Given the description of an element on the screen output the (x, y) to click on. 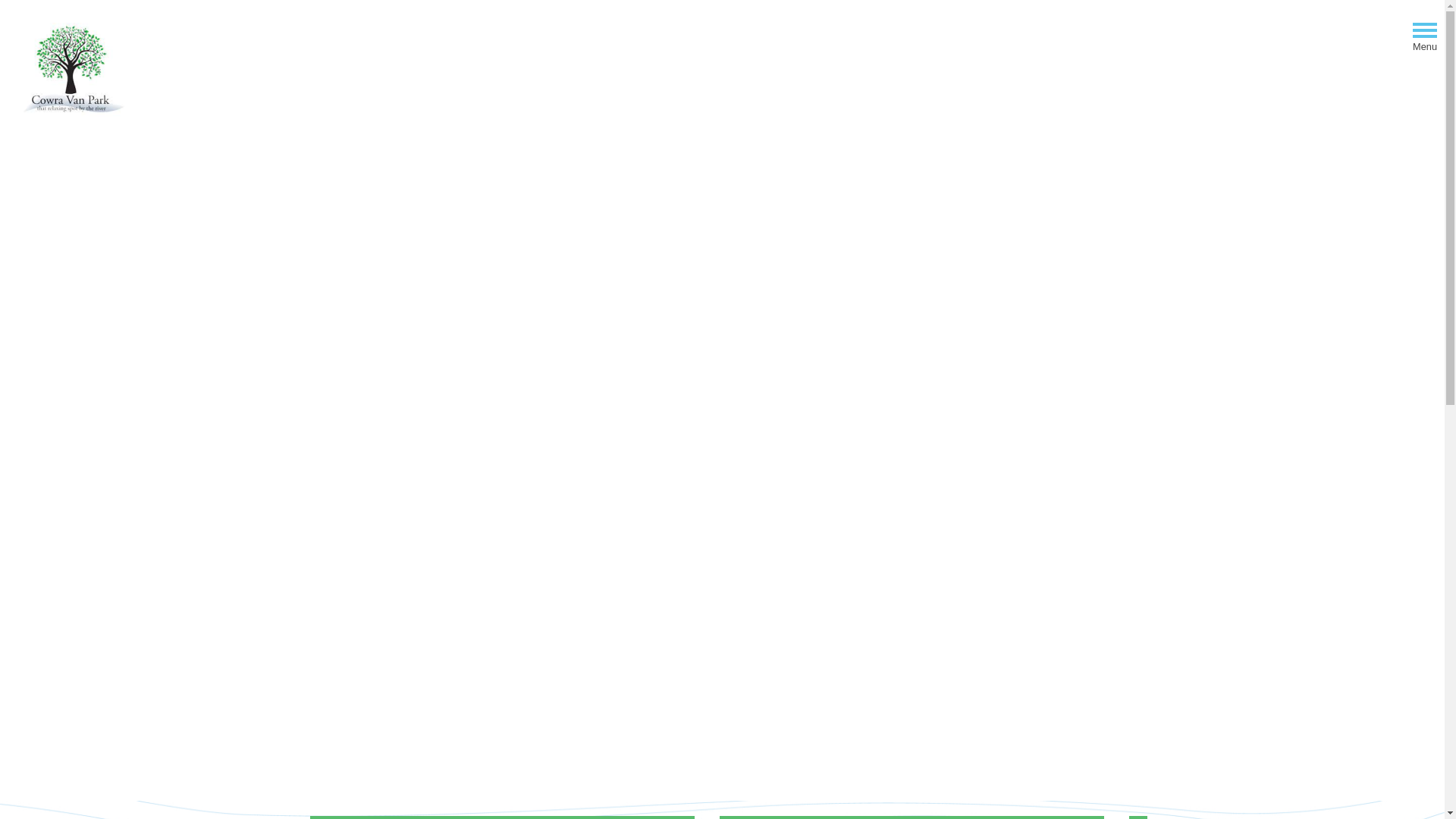
Open
Menu
below search button Element type: text (1424, 32)
Home - Cowra Van Park - Logo Element type: text (72, 71)
